Given the description of an element on the screen output the (x, y) to click on. 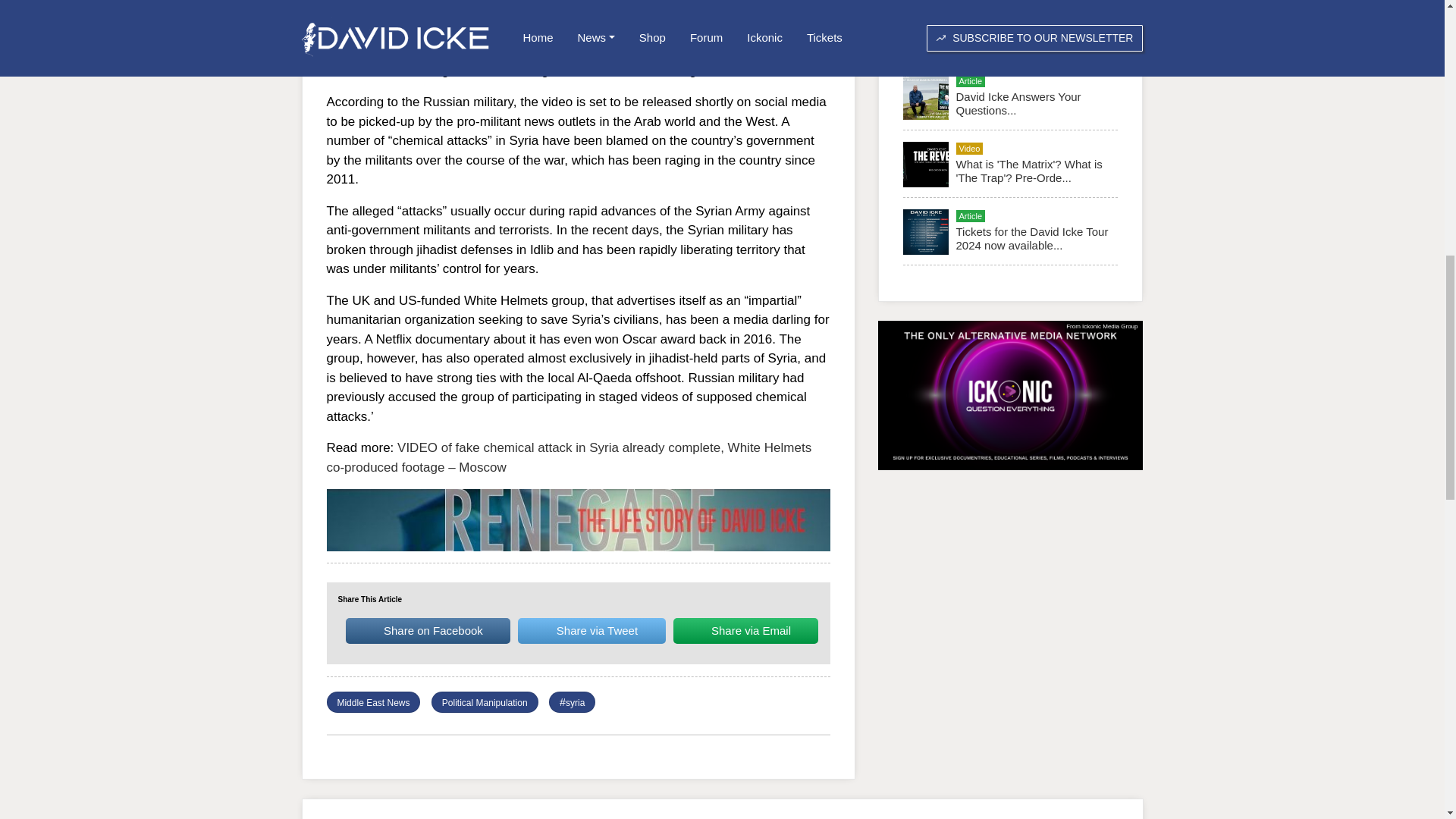
David Icke Answers Your Questions... (1017, 103)
syria (575, 702)
Political Manipulation (484, 702)
Share via Tweet (591, 630)
Share via Email (745, 630)
Middle East News (372, 702)
Share on Facebook (428, 630)
